Given the description of an element on the screen output the (x, y) to click on. 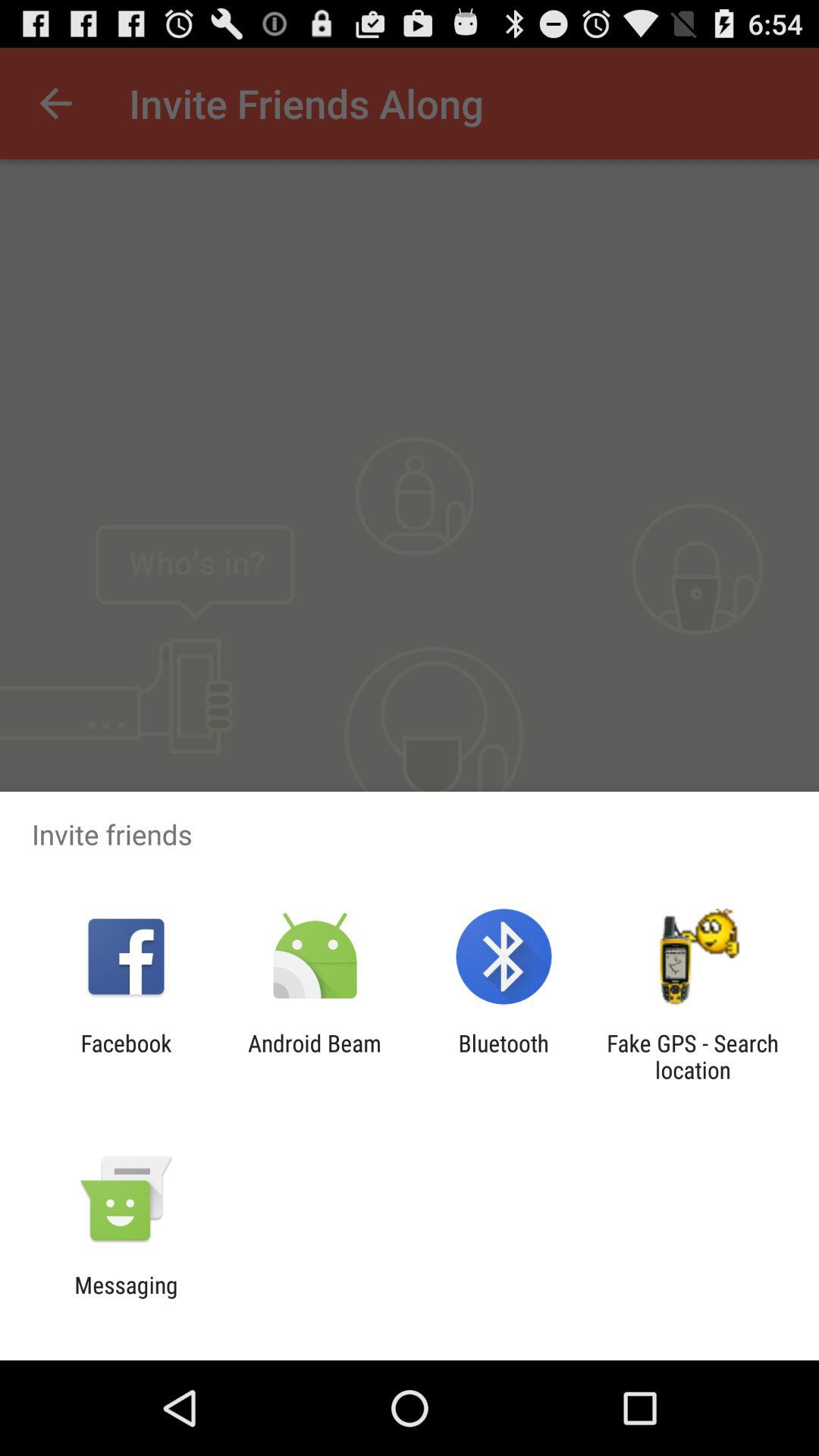
choose android beam item (314, 1056)
